Given the description of an element on the screen output the (x, y) to click on. 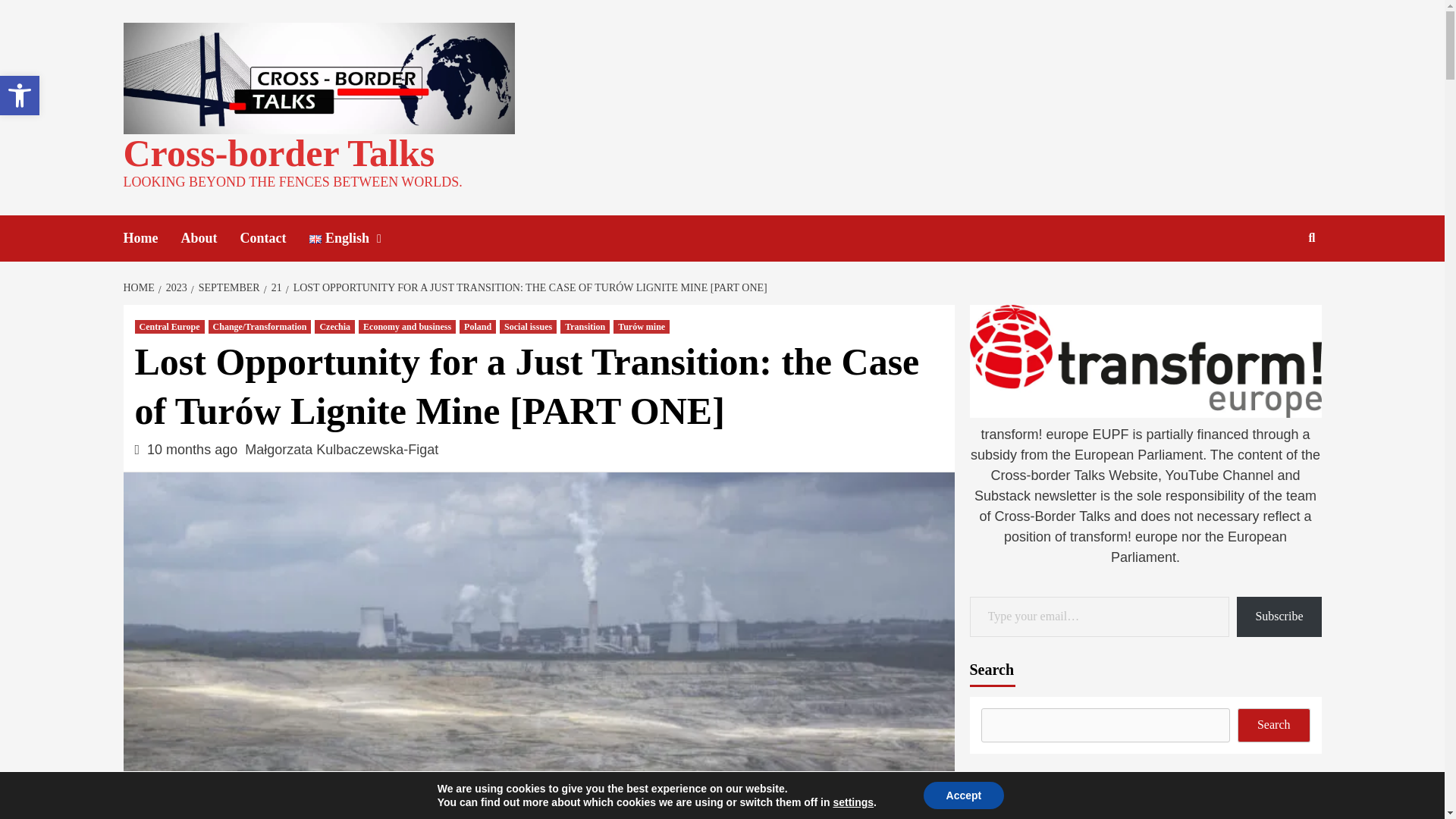
Social issues (527, 326)
Poland (478, 326)
Accessibility Tools (19, 95)
HOME (139, 287)
Central Europe (170, 326)
Contact (274, 238)
Home (151, 238)
Search (19, 95)
Czechia (1276, 286)
2023 (334, 326)
English (174, 287)
Accessibility Tools (360, 238)
SEPTEMBER (19, 95)
21 (226, 287)
